Given the description of an element on the screen output the (x, y) to click on. 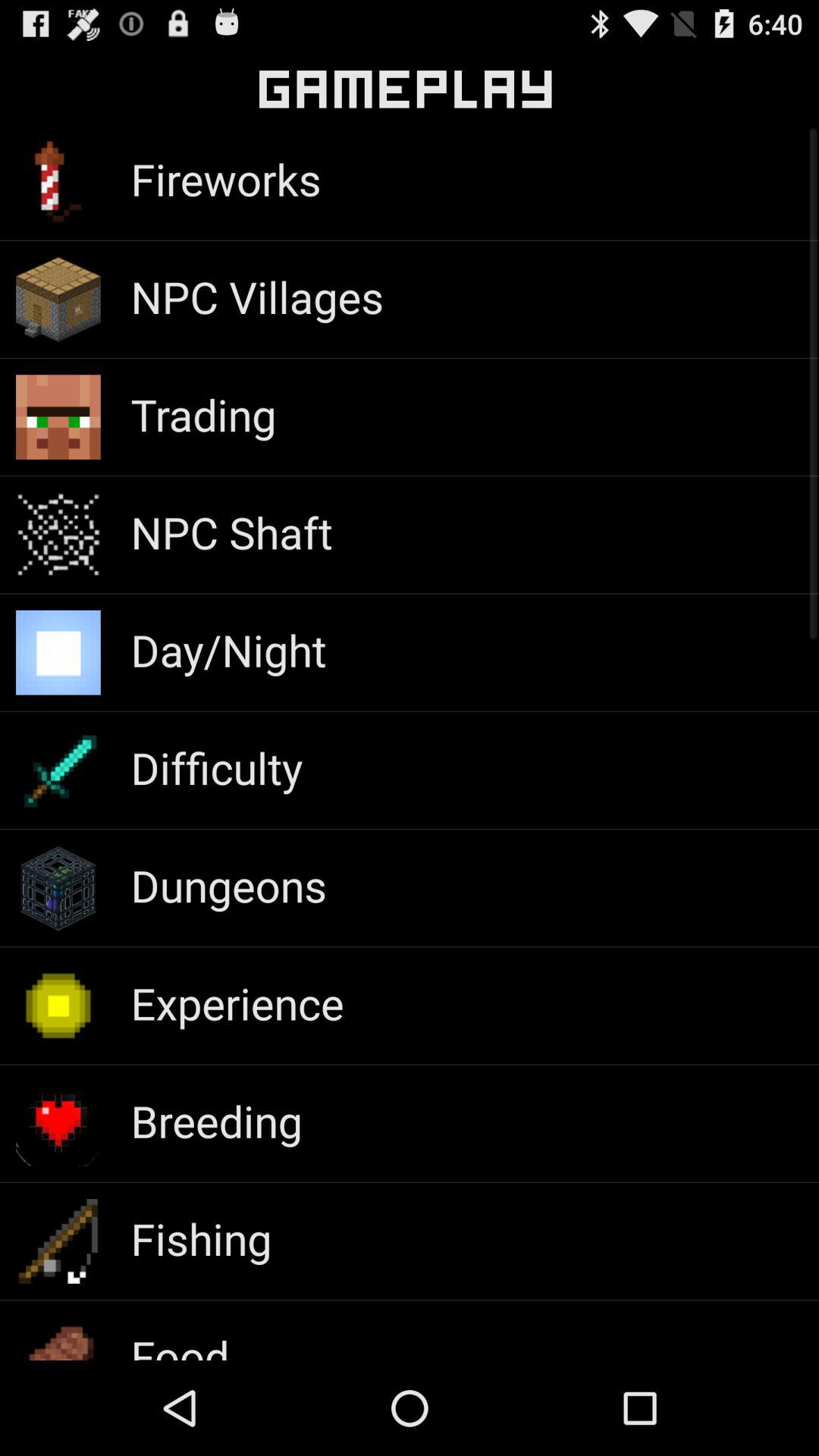
turn off the experience app (237, 1002)
